Given the description of an element on the screen output the (x, y) to click on. 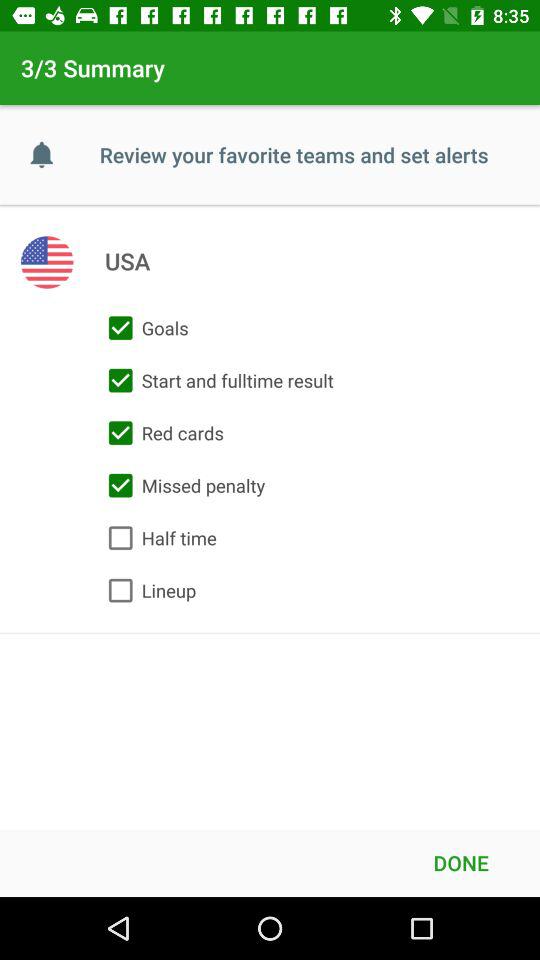
turn off item below the start and fulltime item (161, 433)
